Given the description of an element on the screen output the (x, y) to click on. 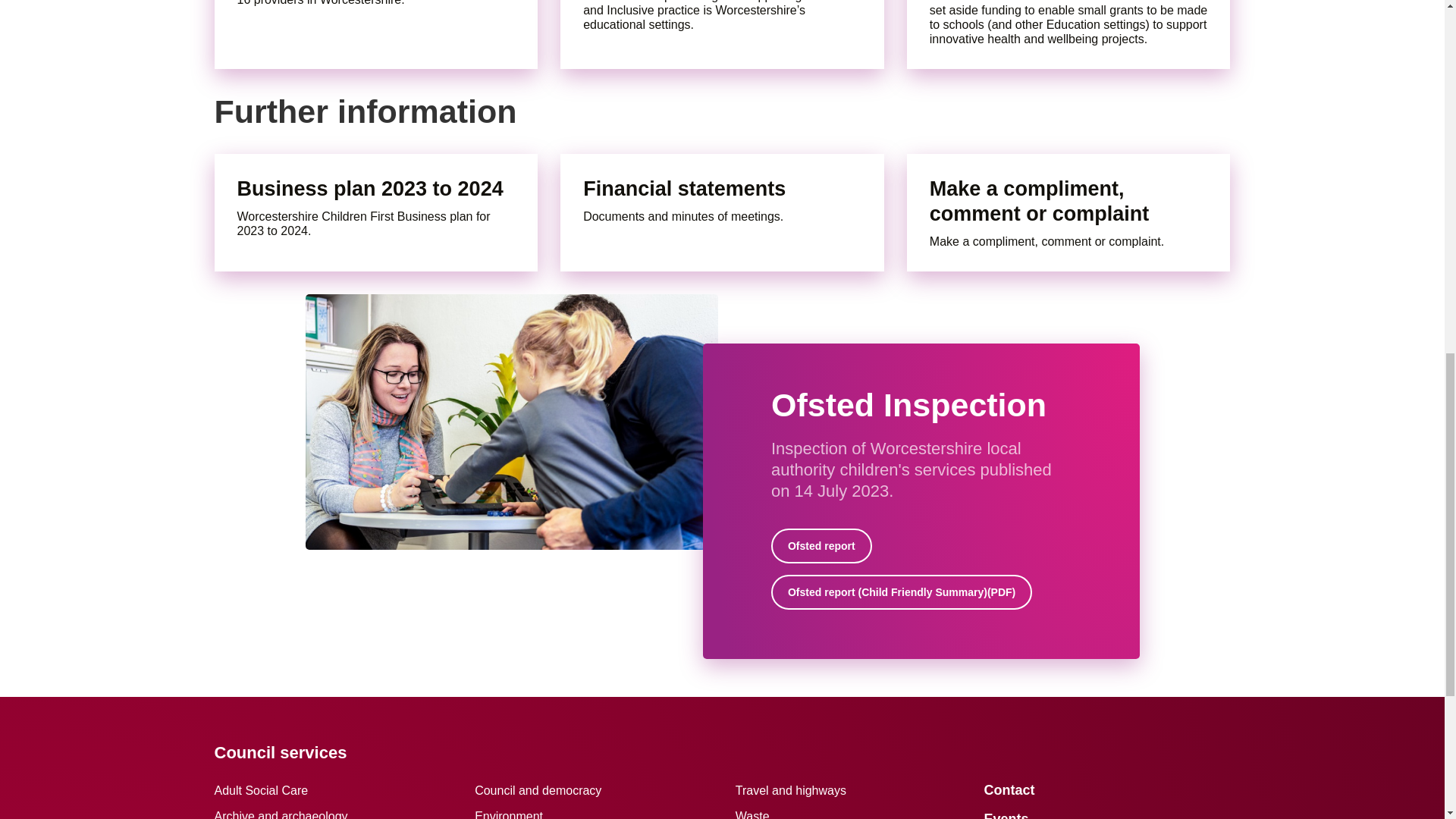
Travel and highways (790, 789)
Adult Social Care (260, 789)
Events (1006, 815)
Make a compliment, comment or complaint (1069, 201)
Waste (752, 814)
Business plan 2023 to 2024 (375, 188)
Financial statements (722, 188)
Environment (508, 814)
Archive and archaeology (280, 814)
Contact (1009, 789)
